Given the description of an element on the screen output the (x, y) to click on. 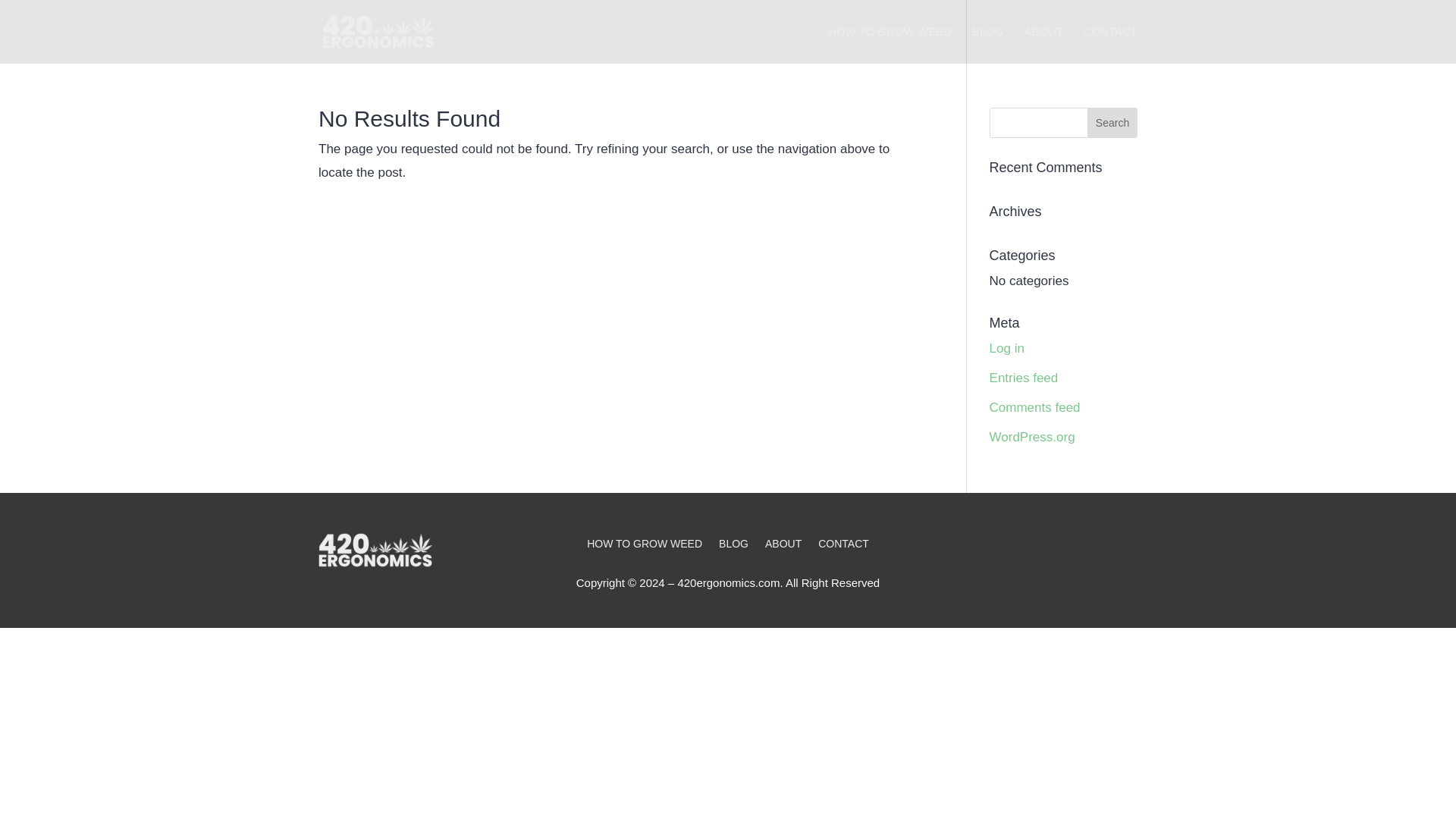
ABOUT (783, 546)
CONTACT (1110, 44)
WordPress.org (1032, 436)
HOW TO GROW WEED (890, 44)
HOW TO GROW WEED (643, 546)
Search (1112, 122)
Entries feed (1024, 377)
Log in (1007, 348)
ABOUT (1042, 44)
Search (1112, 122)
BLOG (733, 546)
CONTACT (843, 546)
Comments feed (1035, 407)
